Given the description of an element on the screen output the (x, y) to click on. 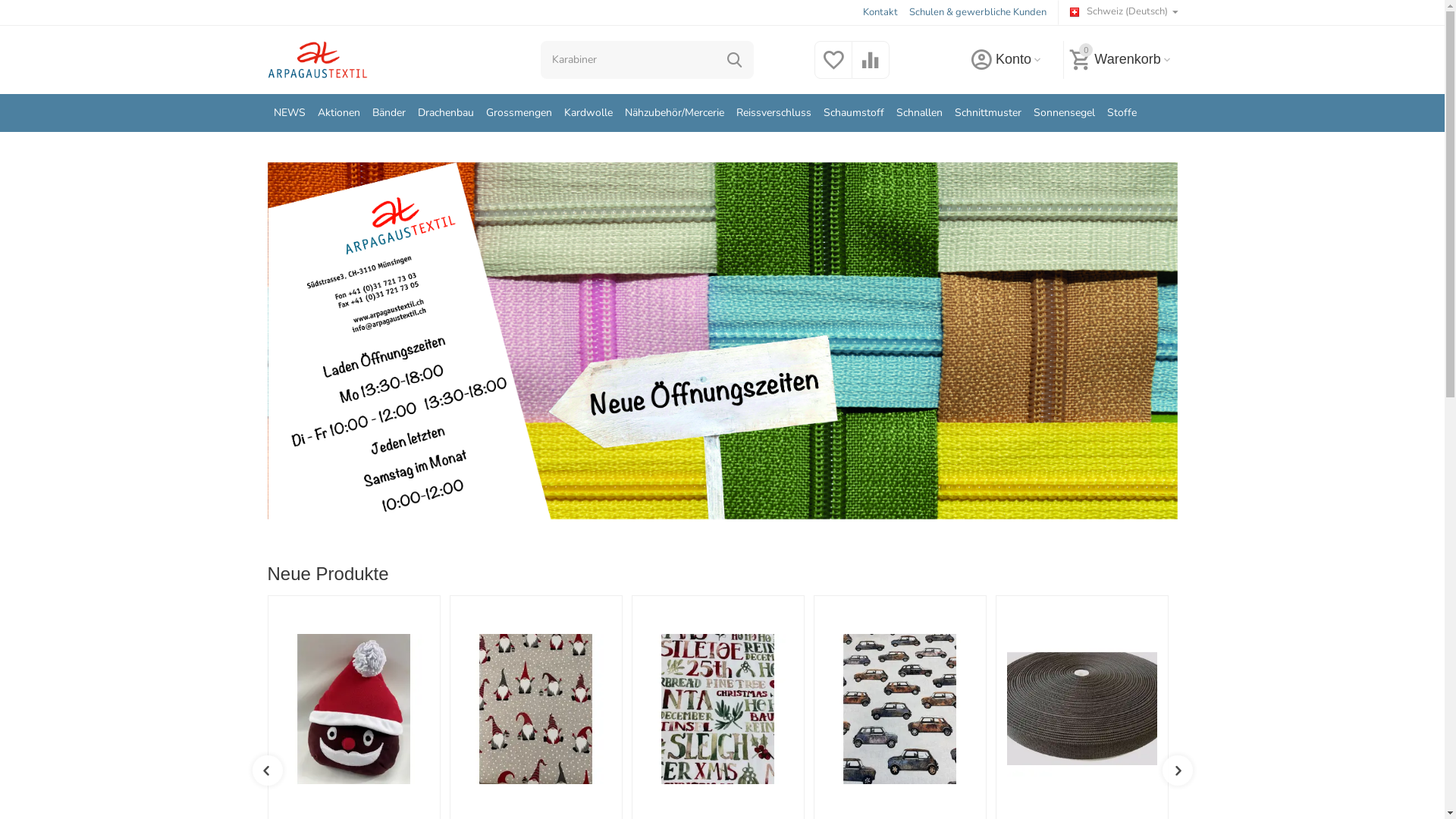
Schweiz (Deutsch) Element type: text (1123, 12)
Kontakt Element type: text (879, 11)
Arpagaus Textil GmbH Element type: hover (316, 58)
Schulen & gewerbliche Kunden Element type: text (977, 11)
Konto Element type: text (1005, 59)
Kardwolle Element type: text (588, 112)
Arpagaus Textil GmbH Element type: hover (316, 59)
Reissverschluss Element type: text (773, 112)
Schnittmuster Element type: text (987, 112)
Stoffe Element type: text (1121, 112)
Wunschliste anzeigen Element type: hover (833, 68)
Schnallen Element type: text (919, 112)
Aktionen Element type: text (338, 112)
Suche Element type: hover (734, 59)
Schaumstoff Element type: text (853, 112)
Grossmengen Element type: text (519, 112)
Drachenbau Element type: text (445, 112)
NEWS Element type: text (288, 112)
Vergleichsliste anzeigen Element type: hover (870, 68)
Sonnensegel Element type: text (1064, 112)
0
Warenkorb Element type: text (1119, 59)
Produkte suchen Element type: hover (646, 59)
